Given the description of an element on the screen output the (x, y) to click on. 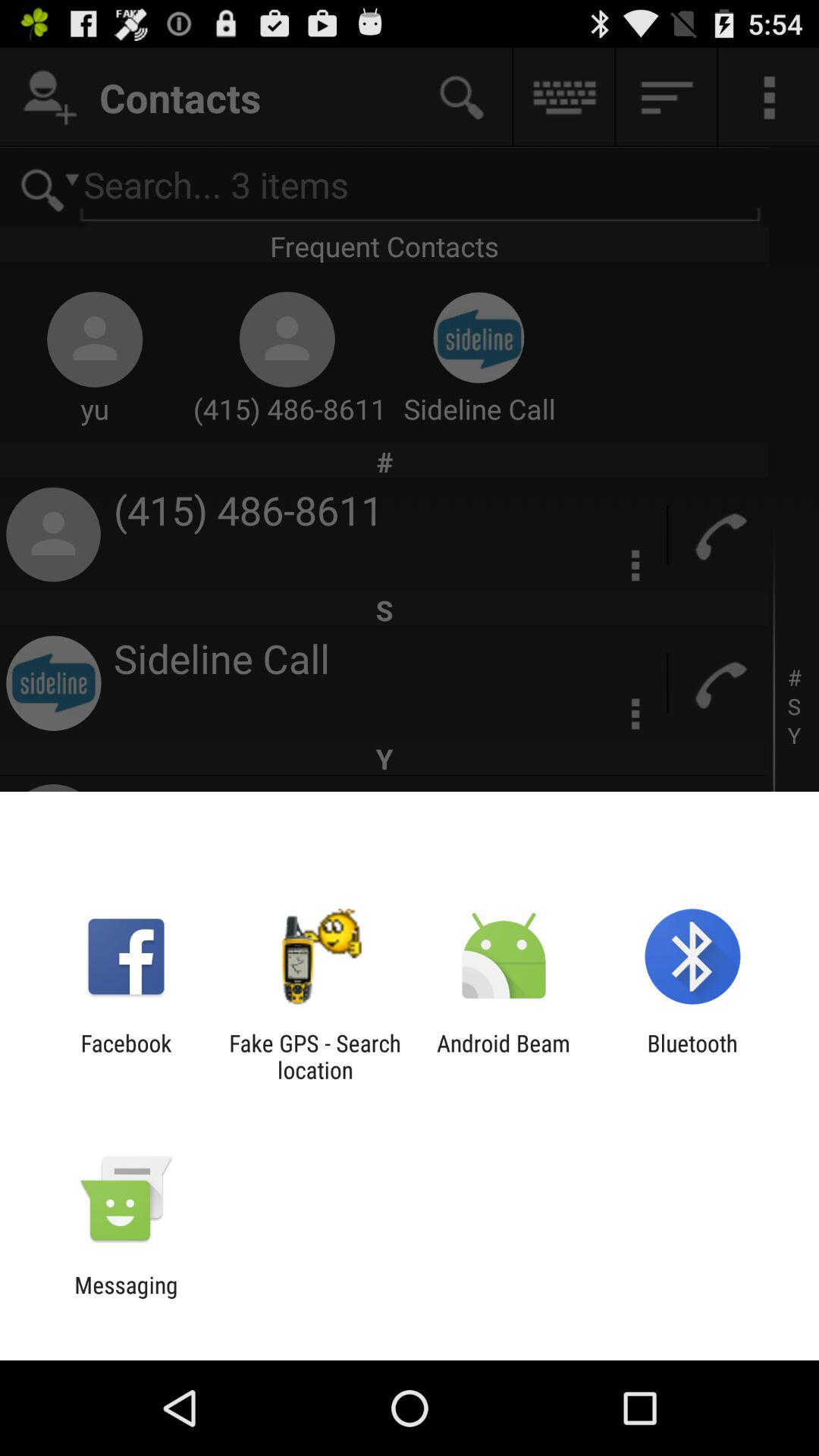
tap the icon next to fake gps search icon (503, 1056)
